Given the description of an element on the screen output the (x, y) to click on. 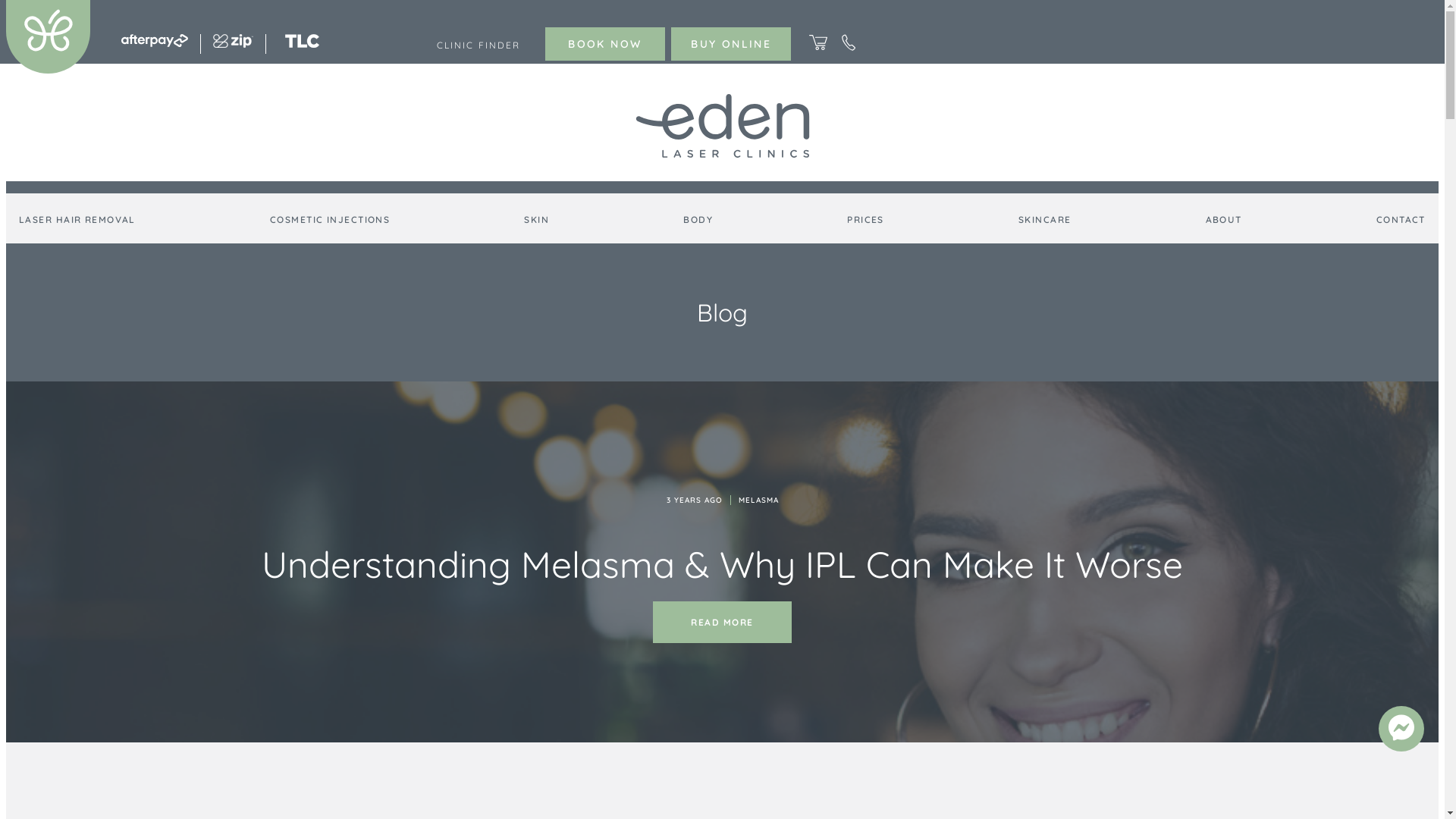
COSMETIC INJECTIONS Element type: text (329, 221)
LASER HAIR REMOVAL Element type: text (77, 221)
Afterpay Element type: hover (154, 42)
BUY ONLINE Element type: text (730, 43)
CONTACT Element type: text (1400, 221)
PRICES Element type: text (865, 221)
ABOUT Element type: text (1223, 221)
CLINIC FINDER Element type: text (478, 44)
BODY Element type: text (697, 221)
BOOK NOW Element type: text (605, 43)
Eden Laser Clinics Element type: hover (48, 68)
MELASMA Element type: text (758, 500)
Call Element type: hover (848, 46)
Eden Laser Clinics Element type: hover (722, 127)
READ MORE Element type: text (721, 622)
TLC Element type: hover (302, 42)
Zip Pay Element type: hover (233, 42)
SKIN Element type: text (536, 221)
SKINCARE Element type: text (1044, 221)
